Given the description of an element on the screen output the (x, y) to click on. 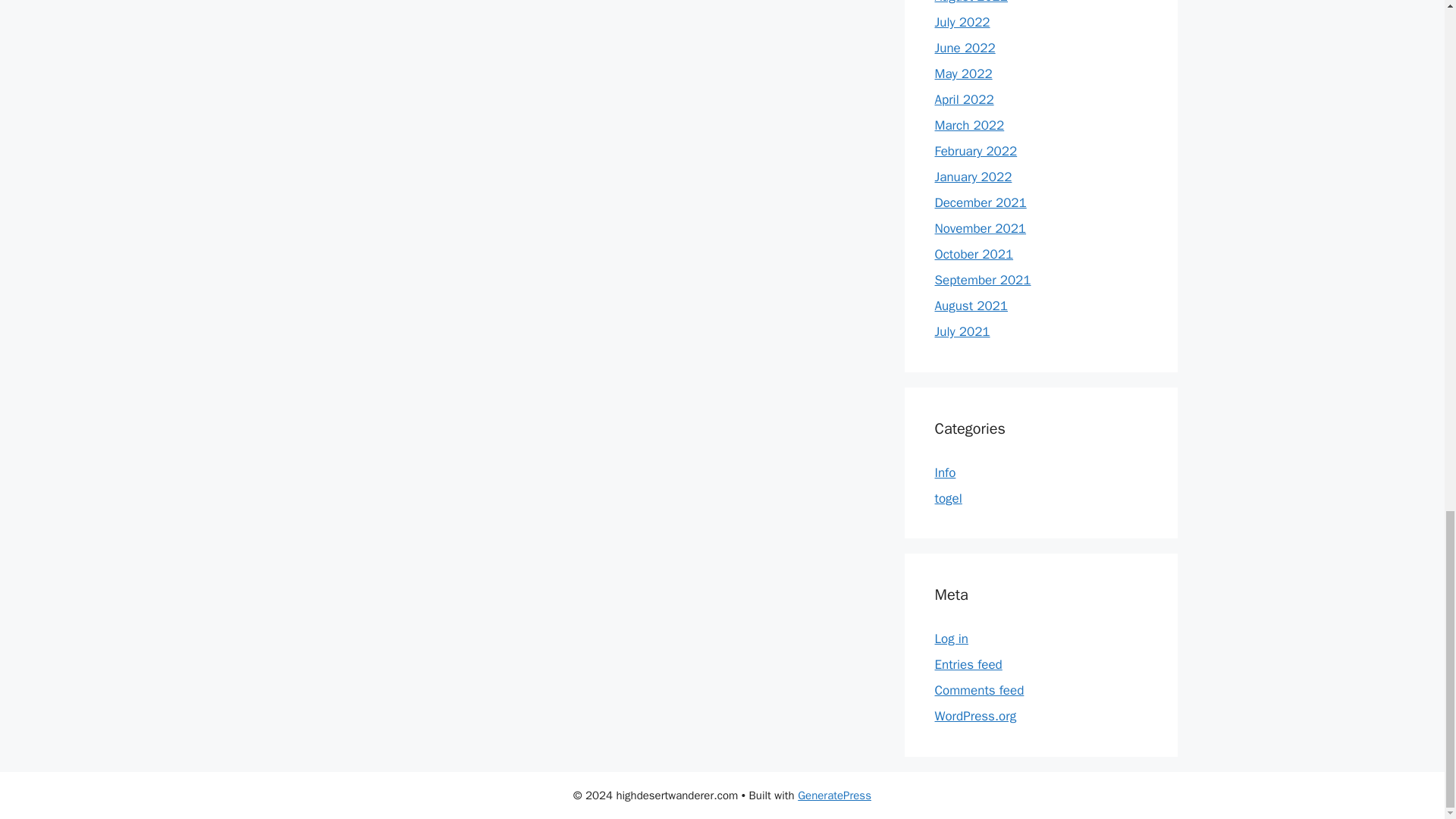
July 2022 (962, 22)
August 2022 (970, 2)
